Given the description of an element on the screen output the (x, y) to click on. 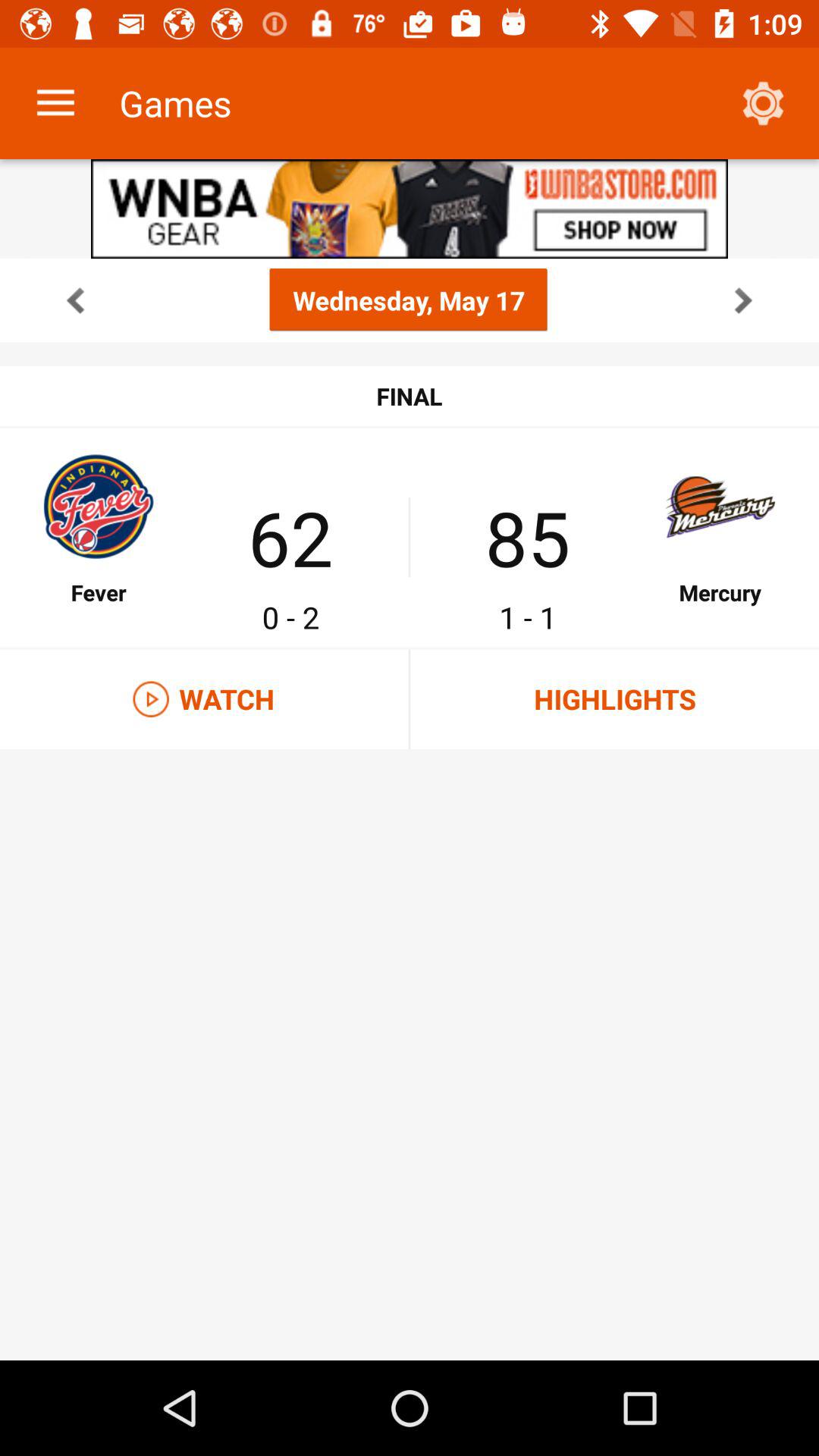
share the article (409, 208)
